Given the description of an element on the screen output the (x, y) to click on. 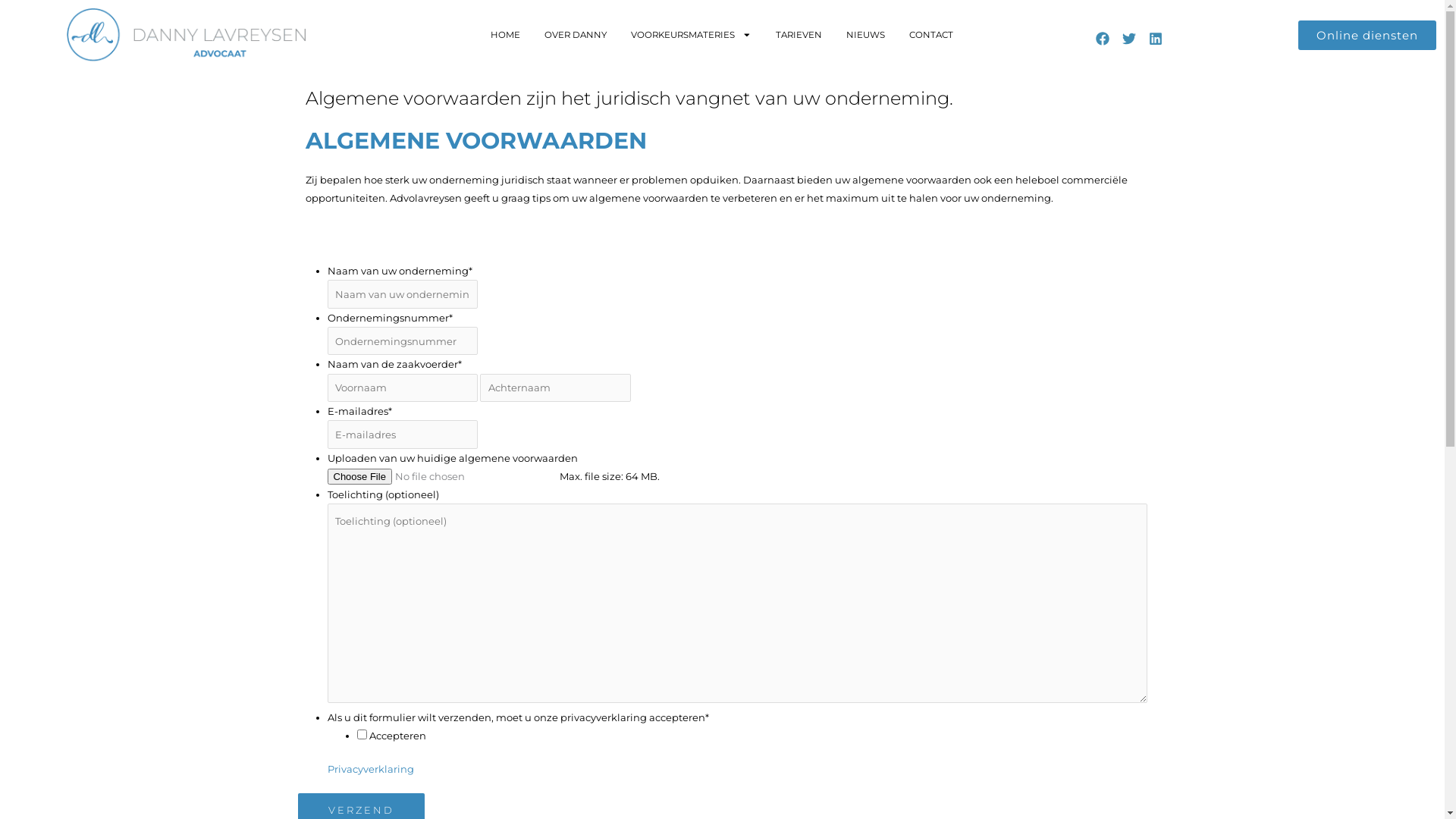
Privacyverklaring Element type: text (370, 768)
Online diensten Element type: text (1367, 35)
Twitter Element type: text (1128, 38)
OVER DANNY Element type: text (575, 34)
HOME Element type: text (505, 34)
VOORKEURSMATERIES Element type: text (690, 34)
Linkedin Element type: text (1154, 38)
Facebook Element type: text (1101, 38)
NIEUWS Element type: text (865, 34)
TARIEVEN Element type: text (798, 34)
CONTACT Element type: text (931, 34)
